Given the description of an element on the screen output the (x, y) to click on. 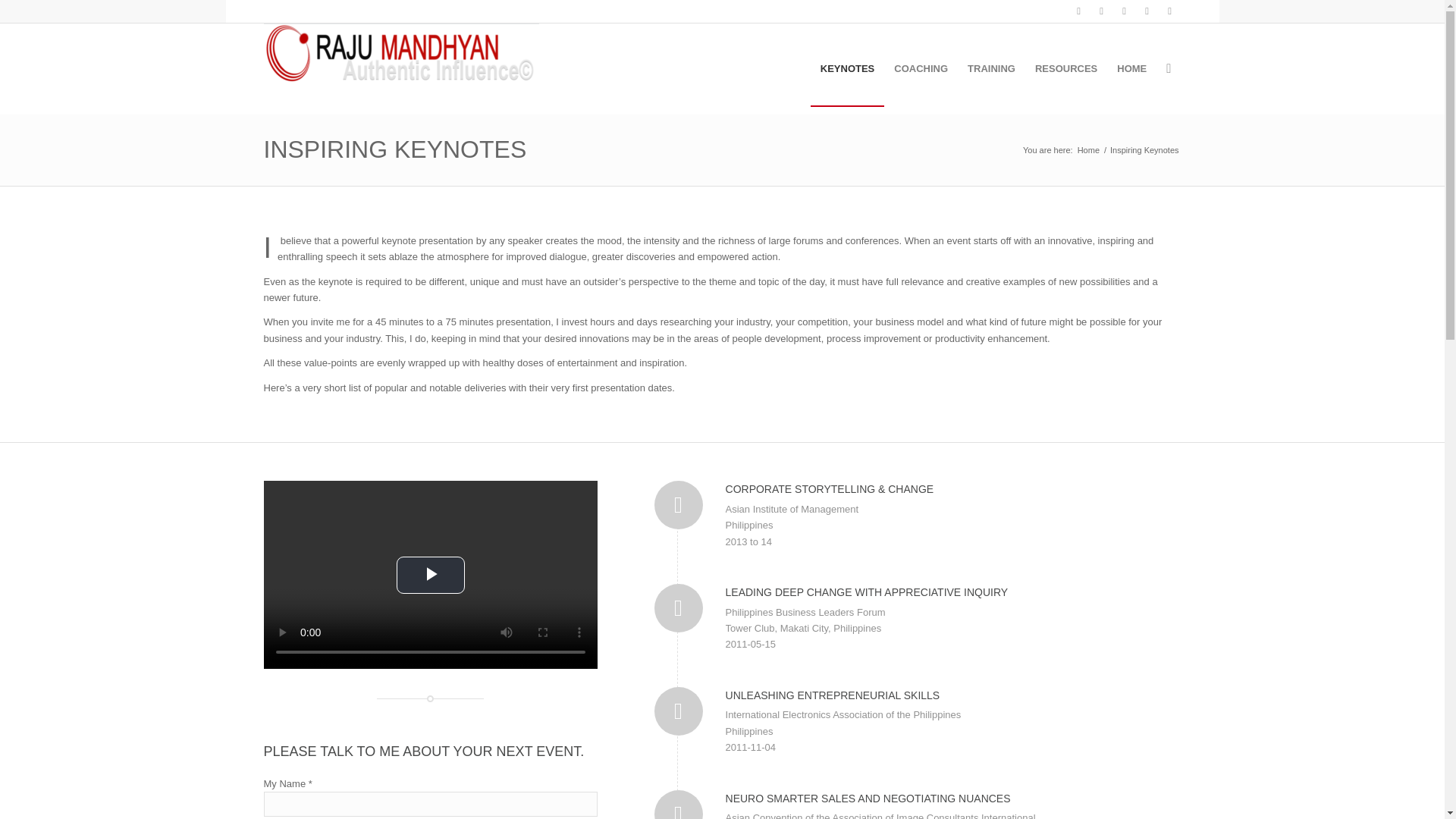
Youtube (1146, 11)
Home (1088, 150)
Facebook (1101, 11)
Pinterest (1169, 11)
Permanent Link: Inspiring Keynotes (395, 148)
Play Video (430, 574)
Mandhyan (1088, 150)
INSPIRING KEYNOTES (395, 148)
Linkedin (1124, 11)
RESOURCES (1065, 68)
Play Video (430, 574)
Twitter (1078, 11)
